Given the description of an element on the screen output the (x, y) to click on. 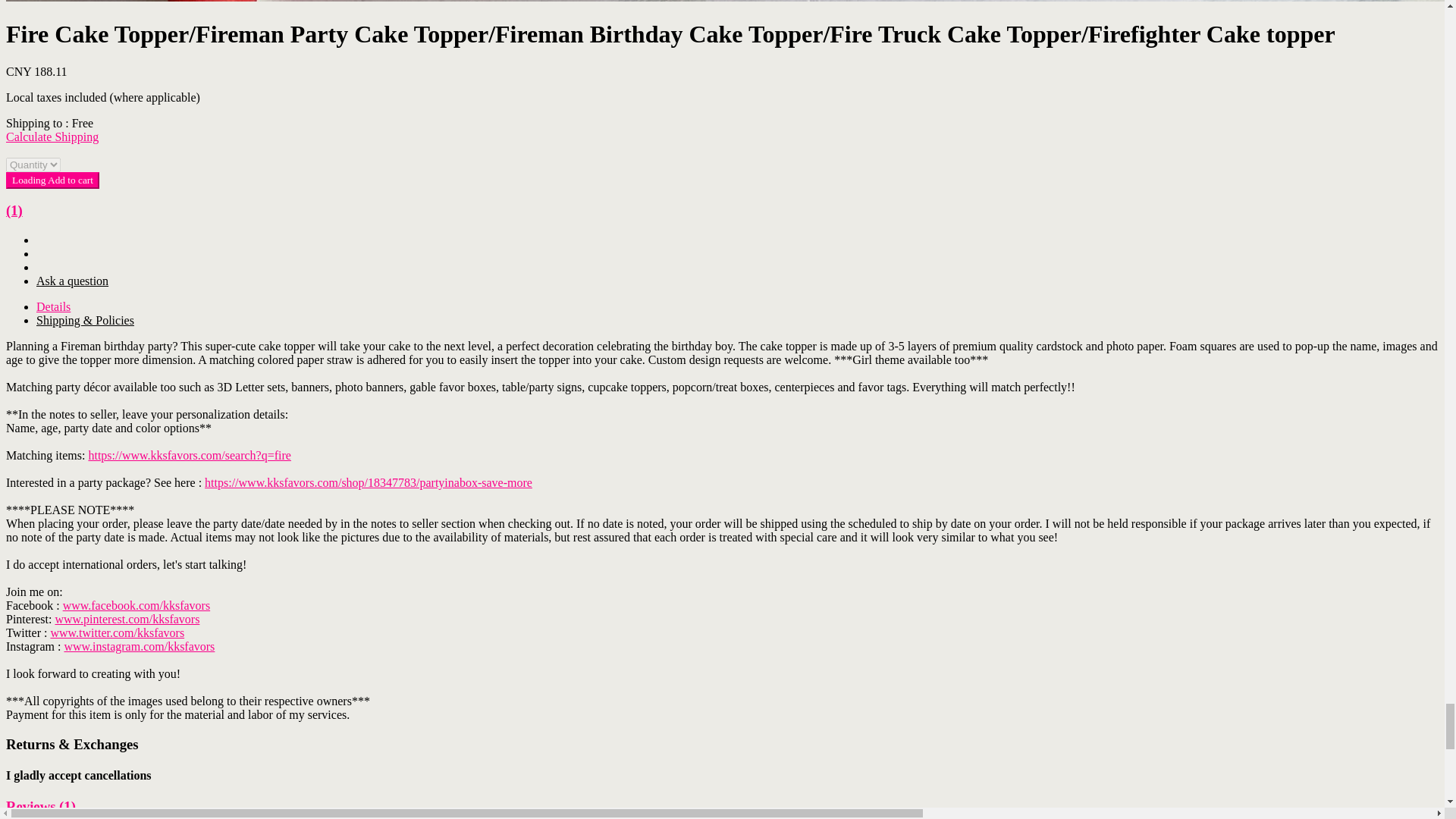
Calculate Shipping (52, 136)
Loading Add to cart (52, 180)
Details (52, 306)
Ask a question (71, 280)
